Given the description of an element on the screen output the (x, y) to click on. 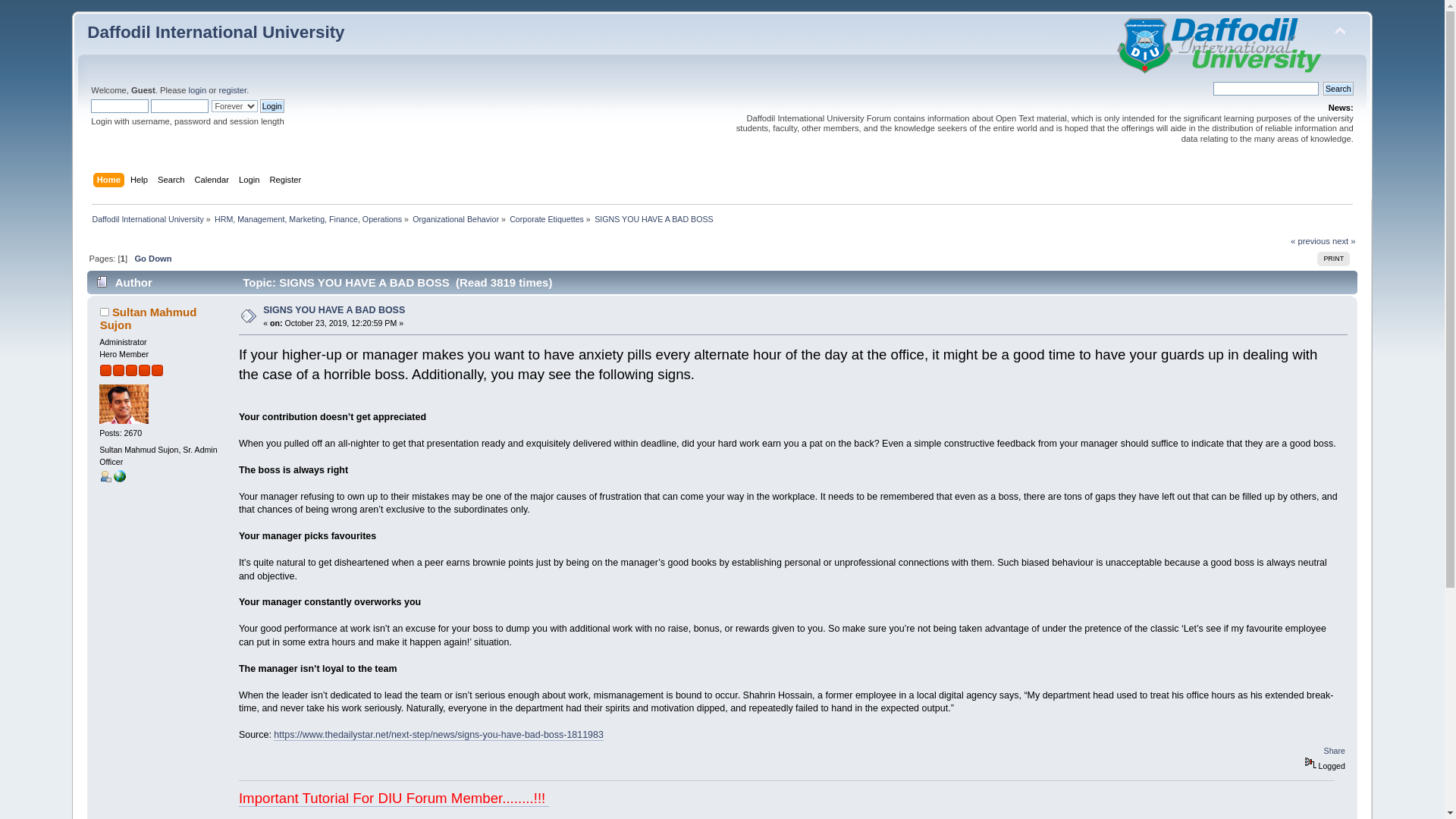
Corporate Etiquettes (546, 218)
Important Tutorial For DIU Forum Member........!!!  (394, 798)
Help (141, 180)
Daffodil International University (147, 218)
Login (271, 106)
Daffodil International University (215, 31)
SIGNS YOU HAVE A BAD BOSS (653, 218)
Shrink or expand the header. (1340, 31)
register (232, 90)
Simple Machines Forum (1219, 45)
Search (1338, 88)
Search (1338, 88)
Register (287, 180)
Search (173, 180)
Go Down (152, 257)
